Given the description of an element on the screen output the (x, y) to click on. 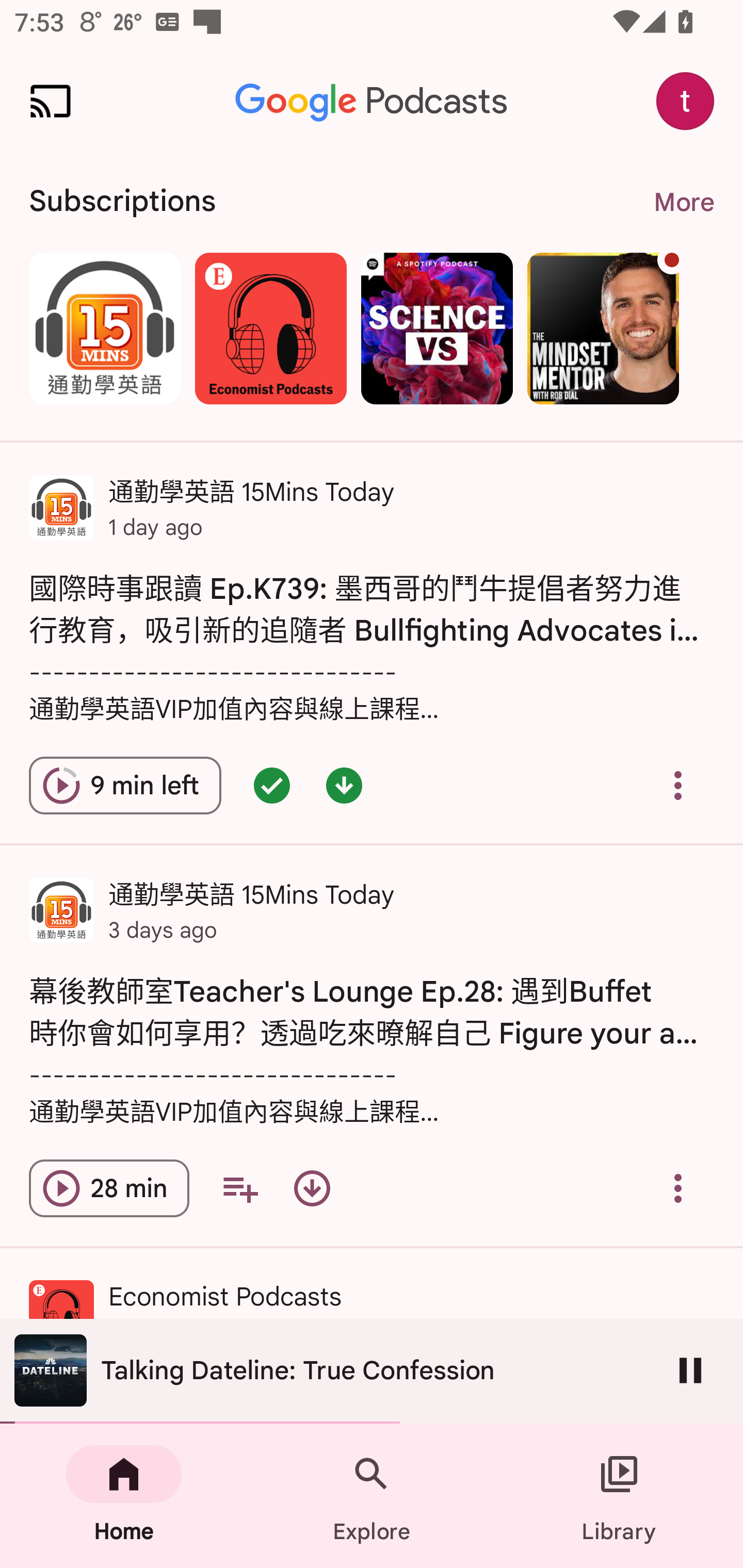
Cast. Disconnected (50, 101)
More More. Navigate to subscriptions page. (683, 202)
通勤學英語 15Mins Today (104, 328)
Economist Podcasts (270, 328)
Science Vs (436, 328)
The Mindset Mentor (603, 328)
Episode queued - double tap for options (271, 785)
Episode downloaded - double tap for options (344, 785)
Overflow menu (677, 785)
Add to your queue (239, 1188)
Download episode (312, 1188)
Overflow menu (677, 1188)
Pause (690, 1370)
Explore (371, 1495)
Library (619, 1495)
